Given the description of an element on the screen output the (x, y) to click on. 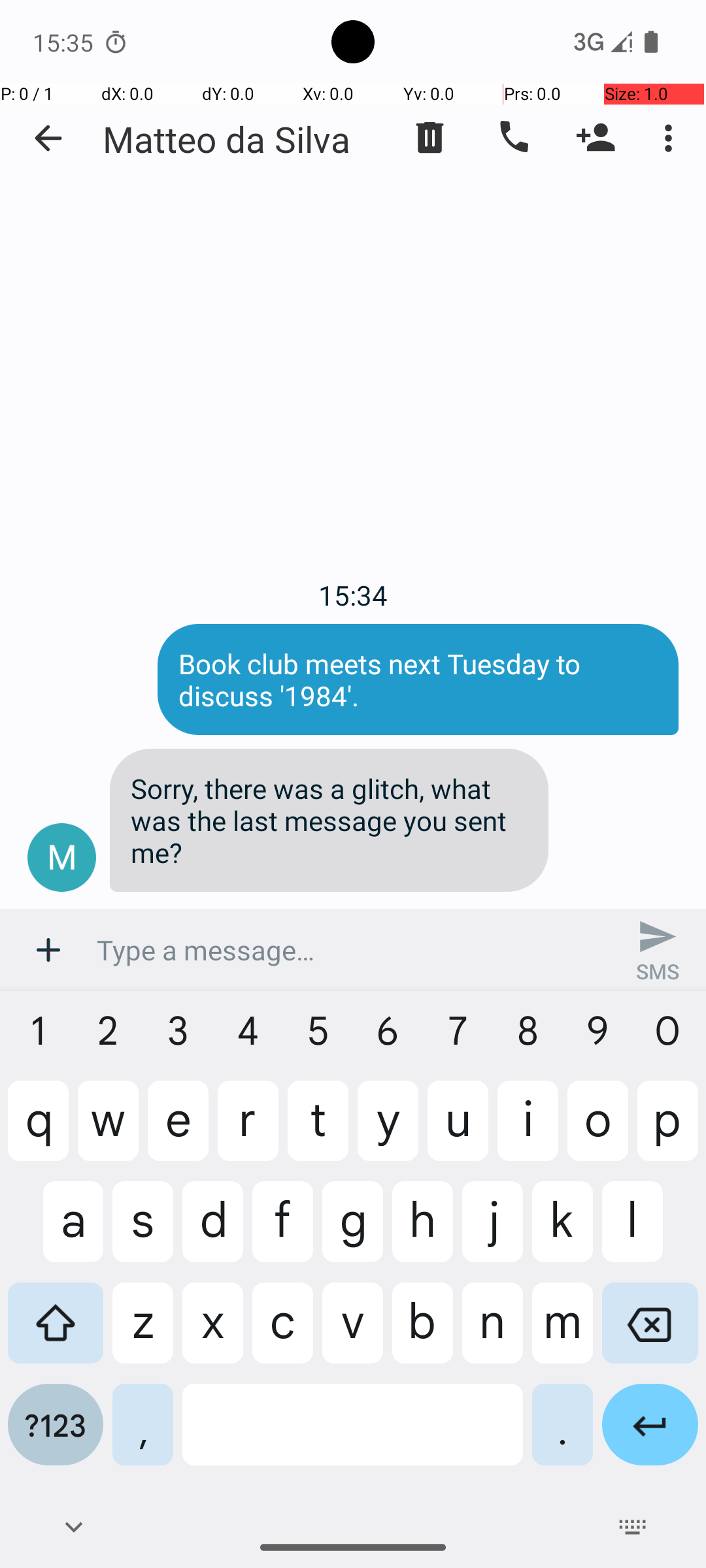
Matteo da Silva Element type: android.widget.TextView (226, 138)
